Given the description of an element on the screen output the (x, y) to click on. 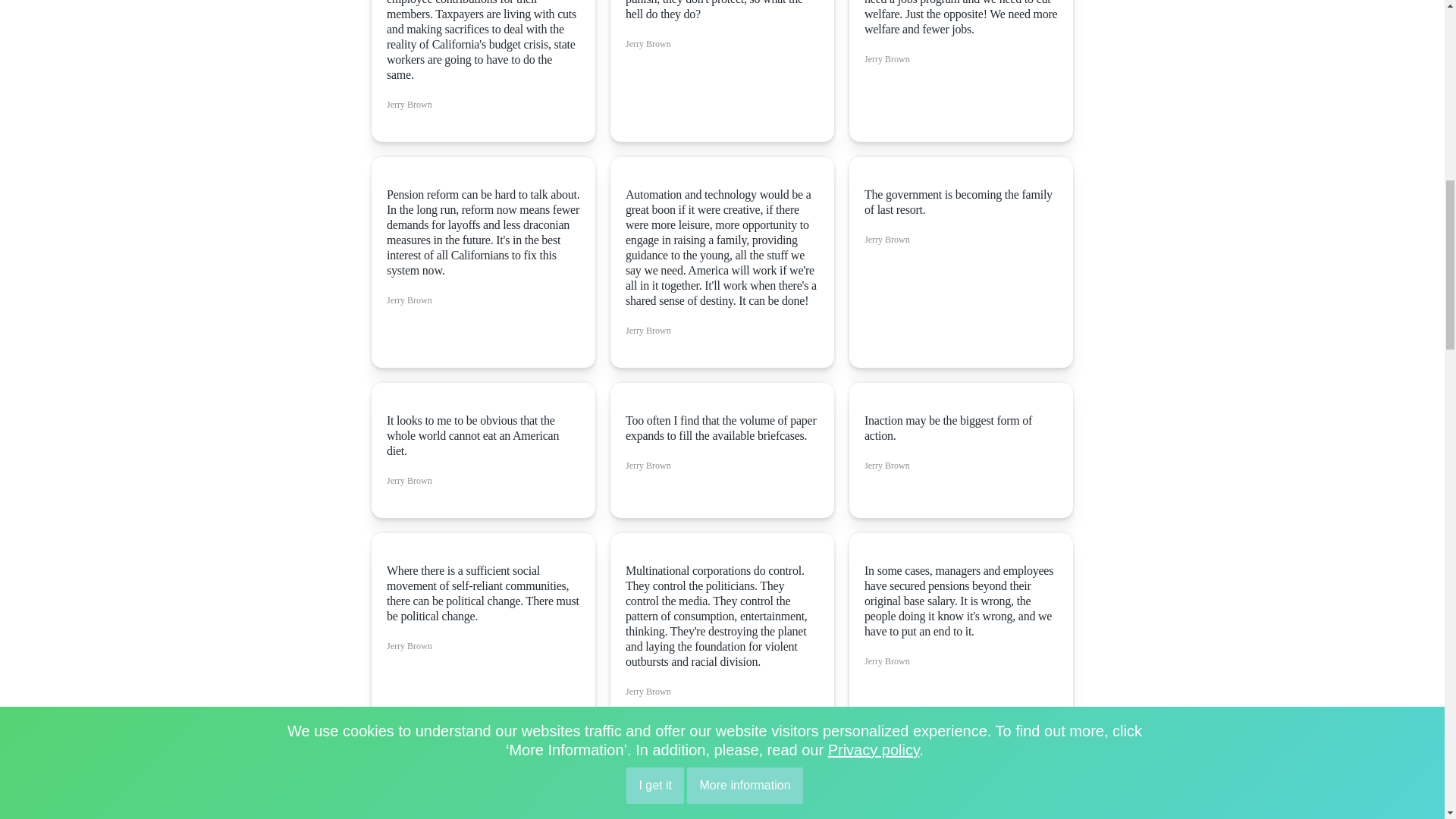
The government is becoming the family of last resort. (961, 201)
